Given the description of an element on the screen output the (x, y) to click on. 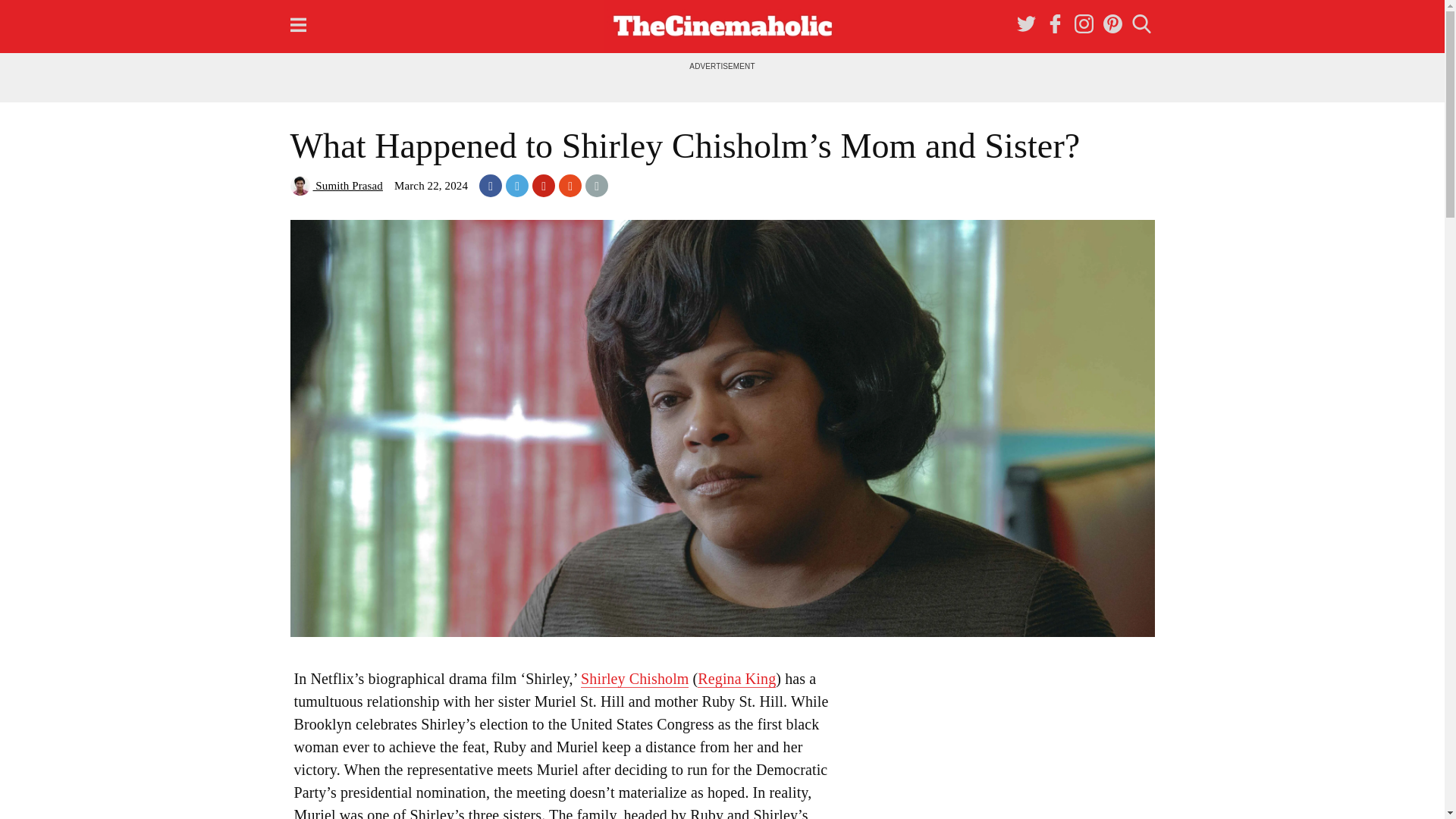
Regina King (736, 678)
Shirley Chisholm (634, 678)
Sumith Prasad (335, 185)
